Given the description of an element on the screen output the (x, y) to click on. 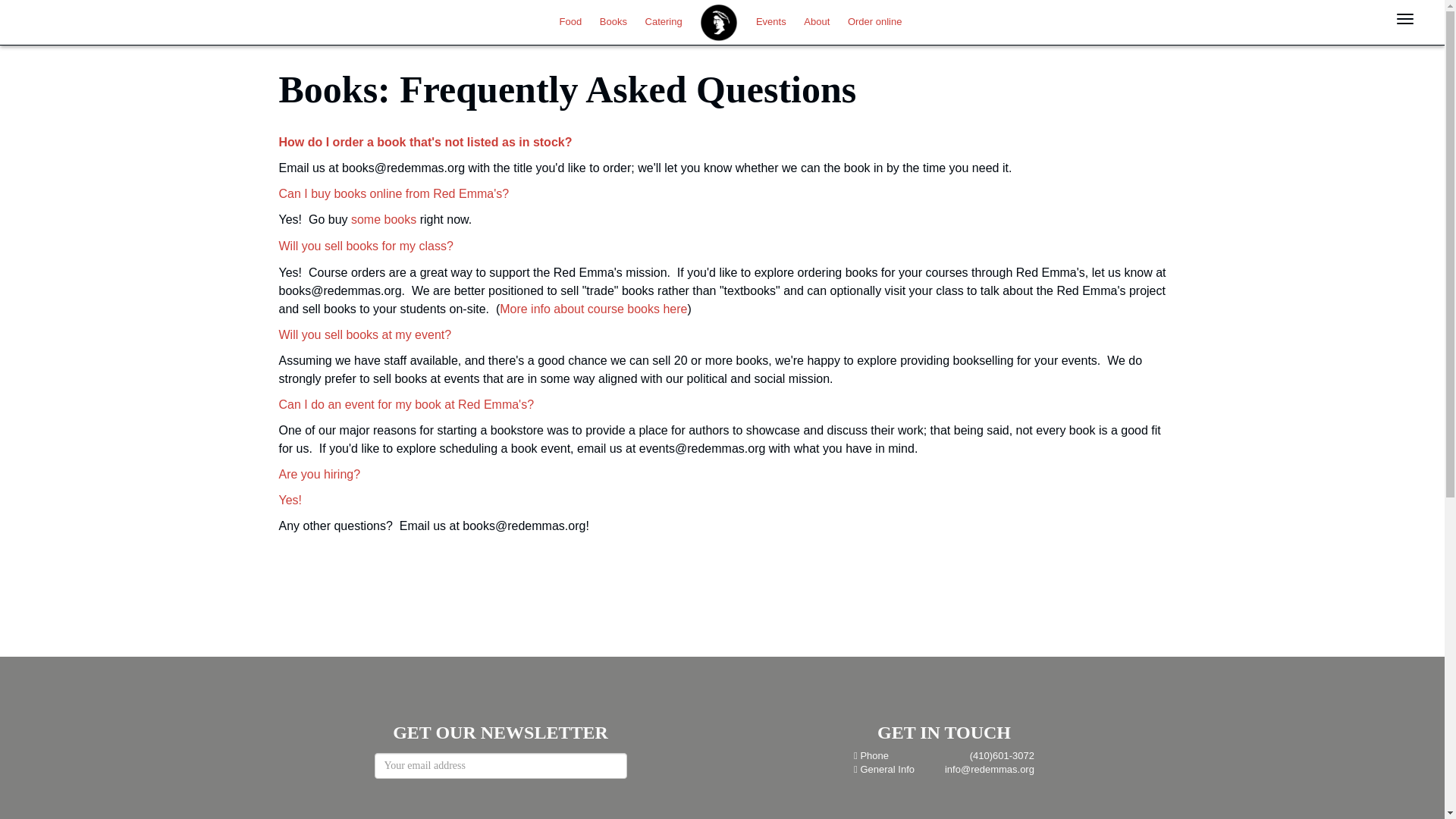
How do I order a book that's not listed as in stock? (425, 141)
Catering (663, 20)
Yes!  (292, 499)
Can I buy books online from Red Emma's? (394, 193)
some books (383, 219)
Will you sell books at my event? (365, 334)
About (816, 20)
Submit (23, 9)
Will you sell books for my class? (365, 245)
Are you hiring? (320, 473)
Events (770, 20)
Books (613, 20)
Food (570, 20)
Order online (875, 20)
Toggle navigation (1405, 18)
